Given the description of an element on the screen output the (x, y) to click on. 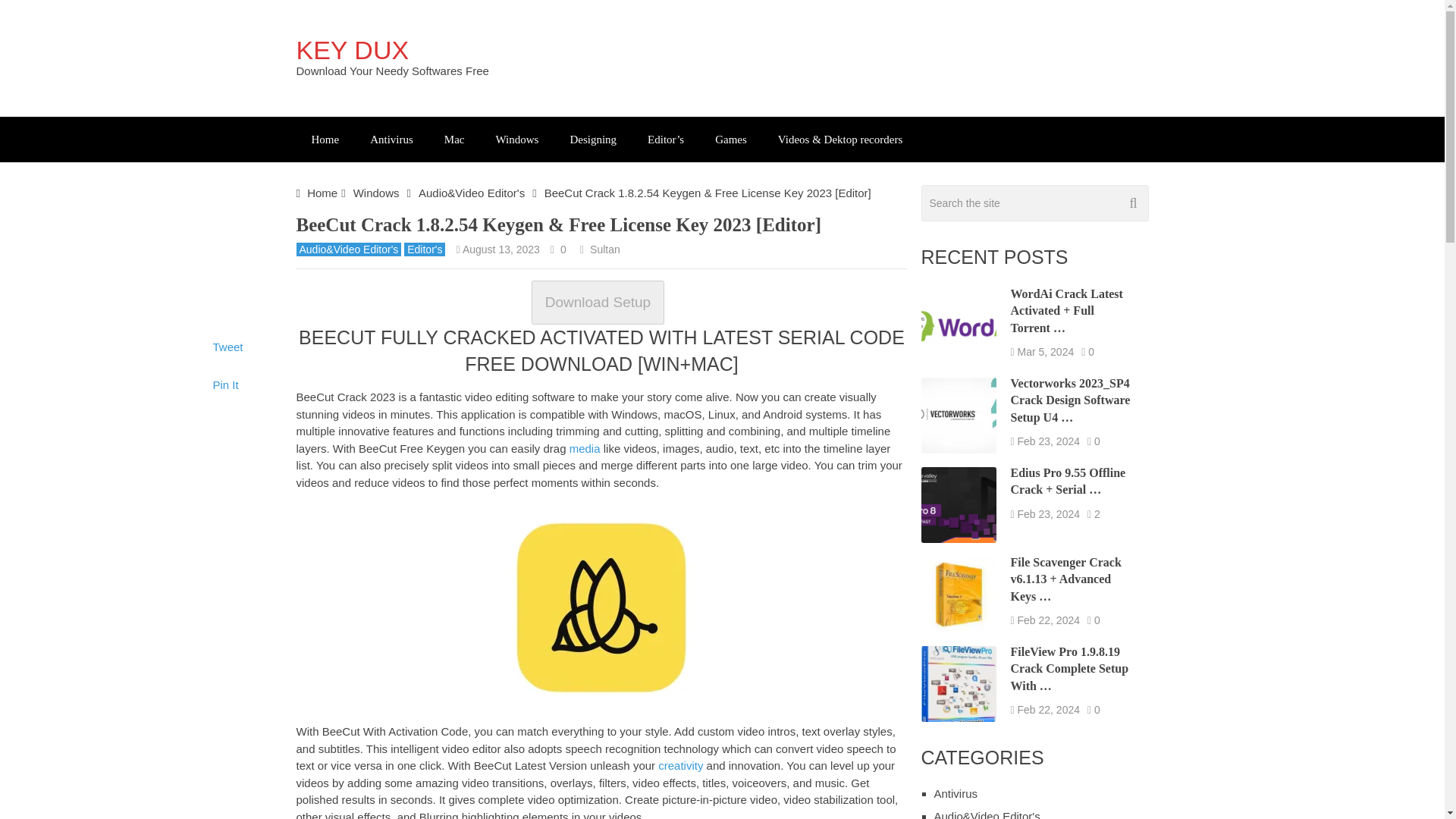
Download Setup (597, 302)
View all posts in Editor's (424, 249)
Windows (375, 192)
Tweet (227, 346)
Sultan (604, 249)
Games (730, 139)
Download Setup (601, 302)
Pin It (225, 384)
Antivirus (391, 139)
KEY DUX (352, 49)
Home (322, 192)
Posts by Sultan (604, 249)
Designing (592, 139)
Home (324, 139)
media (584, 448)
